Given the description of an element on the screen output the (x, y) to click on. 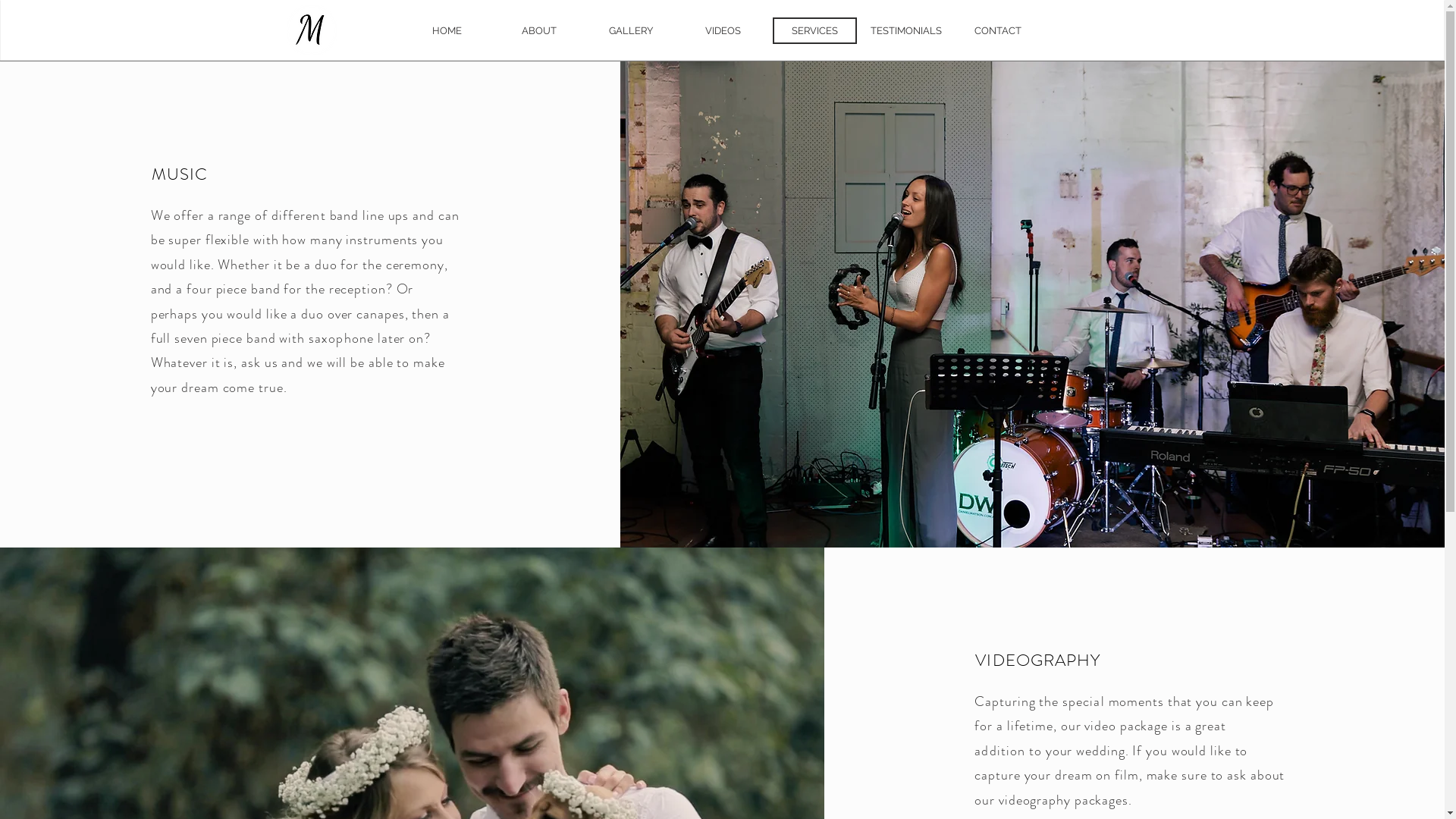
ABOUT Element type: text (539, 30)
CONTACT Element type: text (997, 30)
SERVICES Element type: text (813, 30)
HOME Element type: text (446, 30)
VIDEOS Element type: text (722, 30)
TESTIMONIALS Element type: text (906, 30)
GALLERY Element type: text (630, 30)
